Given the description of an element on the screen output the (x, y) to click on. 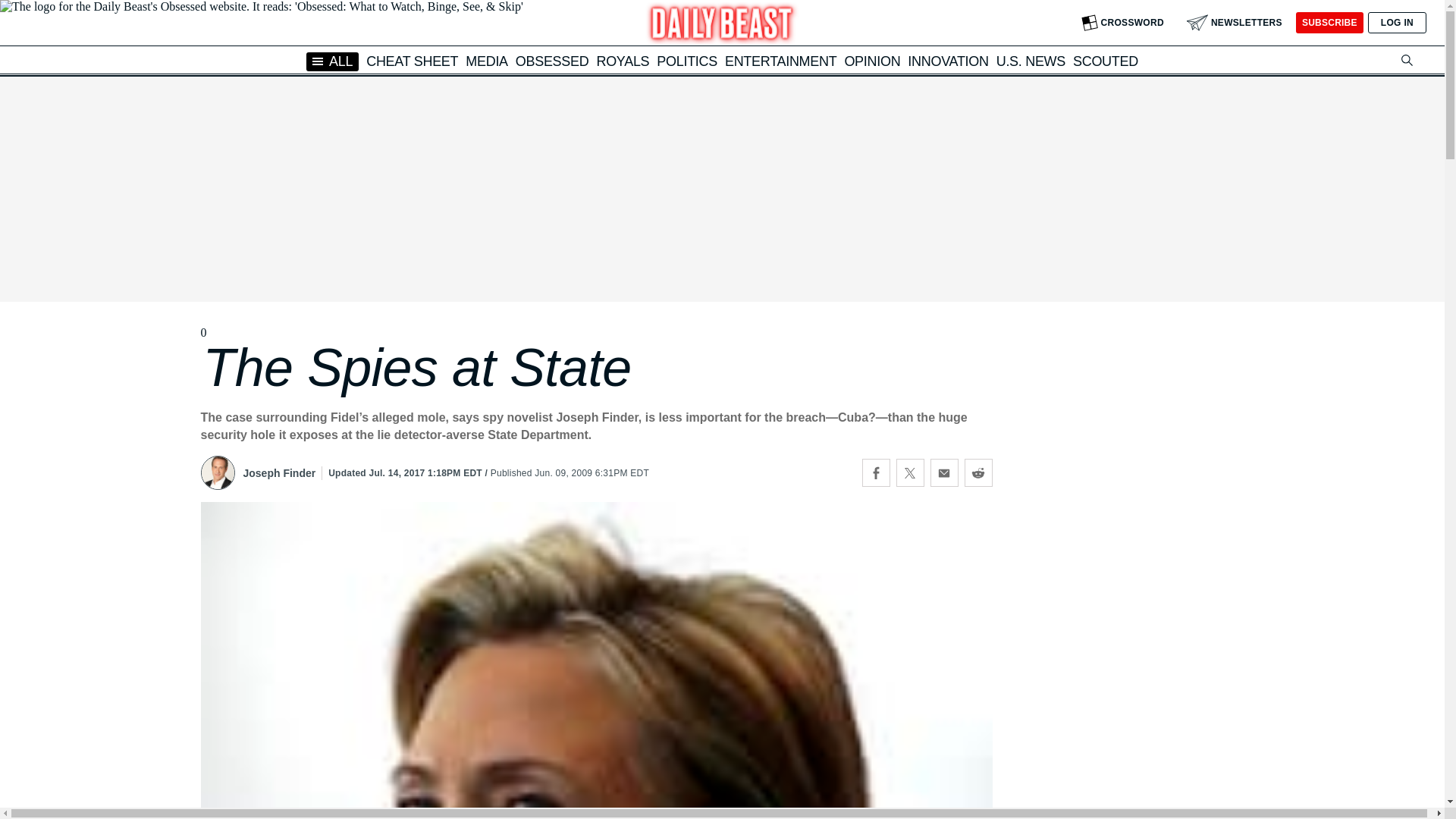
LOG IN (1397, 22)
ENTERTAINMENT (780, 60)
OBSESSED (552, 60)
CROSSWORD (1122, 22)
NEWSLETTERS (1234, 22)
OPINION (871, 60)
SUBSCRIBE (1328, 22)
INNOVATION (947, 60)
MEDIA (486, 60)
ROYALS (622, 60)
U.S. NEWS (1030, 60)
ALL (331, 60)
POLITICS (686, 60)
CHEAT SHEET (412, 60)
SCOUTED (1105, 60)
